Given the description of an element on the screen output the (x, y) to click on. 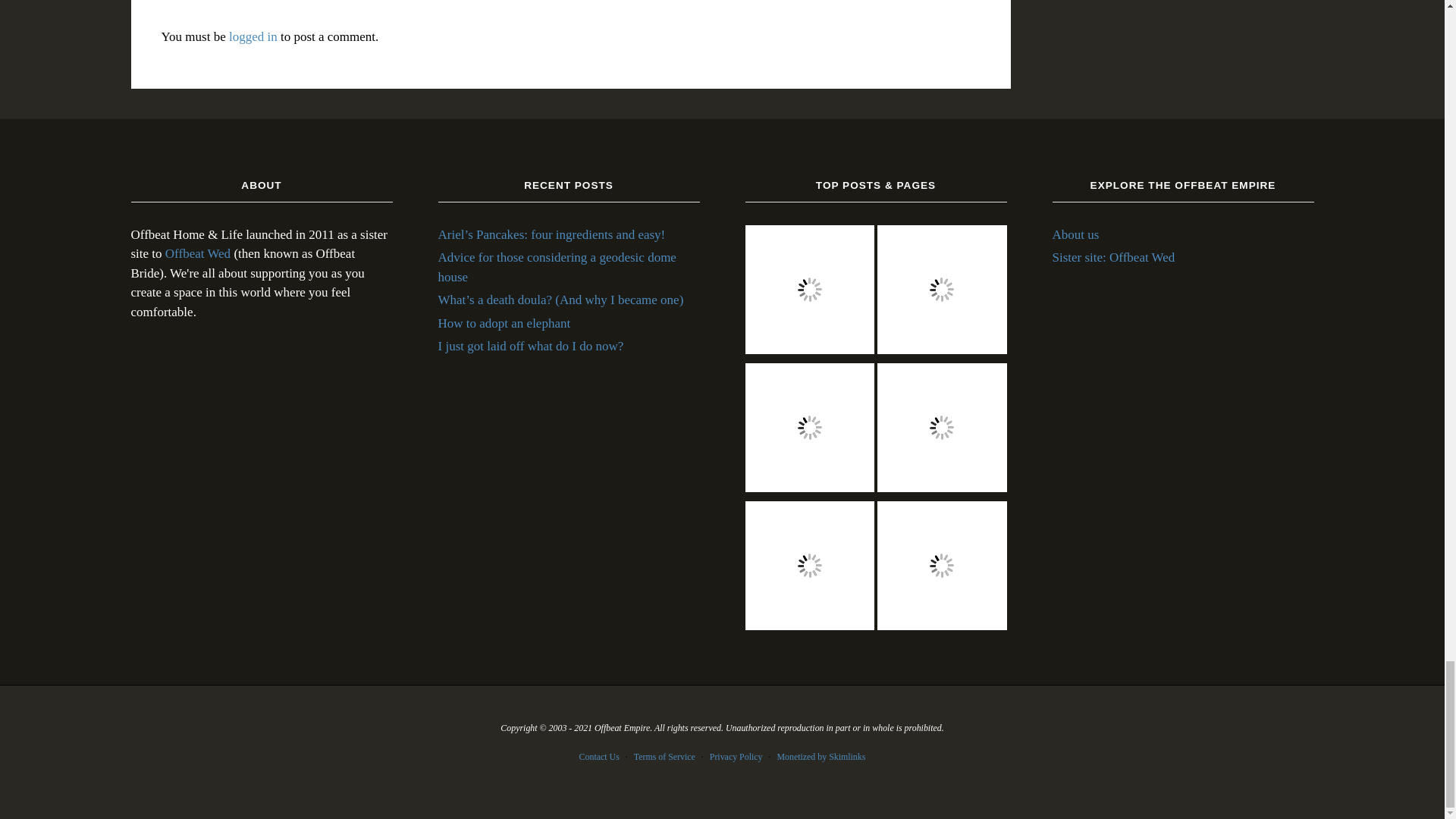
How to decorate and de-boring an above-ground pool (942, 292)
7 ways smoking weed can make you a better parent (942, 568)
Family nudity: my sons see me nude at home (809, 292)
DIYing a vertical pumpkin patch in our tiny urban backyard (809, 430)
Ice cream cone cupcakes are cute and delicious (809, 568)
Throw this Doctor Who wibbly wobbly timey changey party (942, 430)
